Given the description of an element on the screen output the (x, y) to click on. 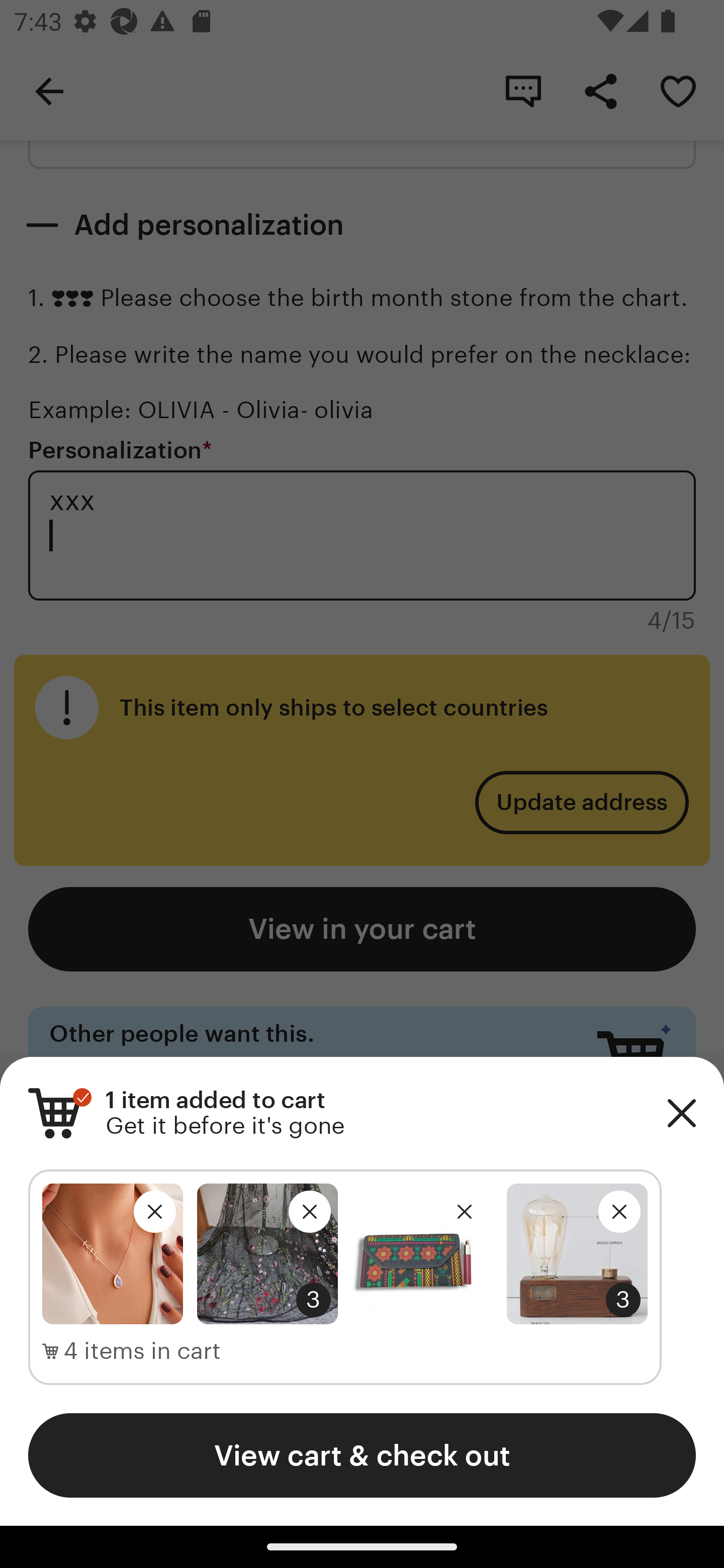
4 items in cart (131, 1351)
View cart & check out (361, 1454)
